Given the description of an element on the screen output the (x, y) to click on. 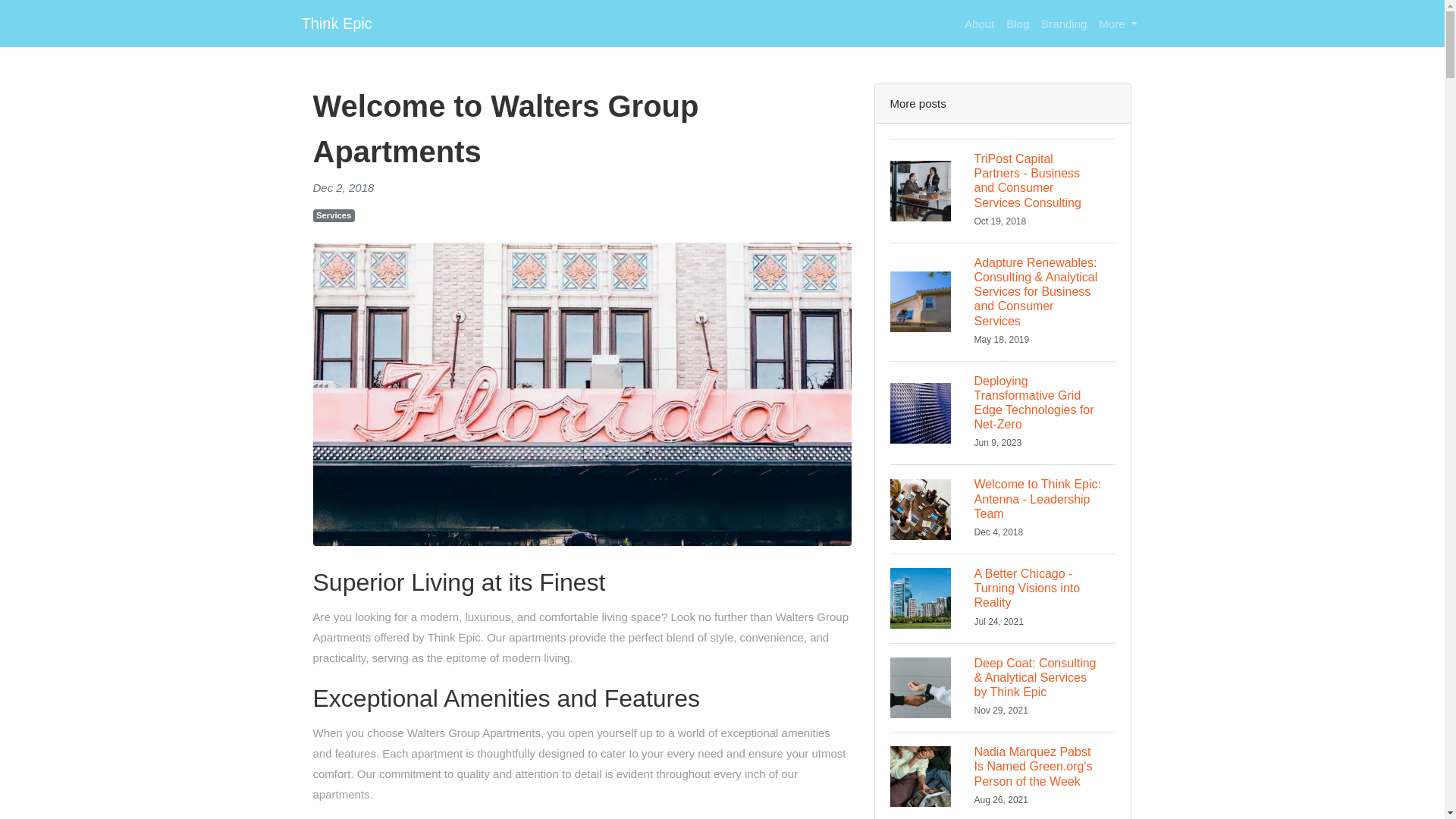
Branding (1064, 23)
About (979, 23)
Services (333, 215)
Think Epic (1002, 597)
More (336, 22)
Blog (1117, 23)
